Given the description of an element on the screen output the (x, y) to click on. 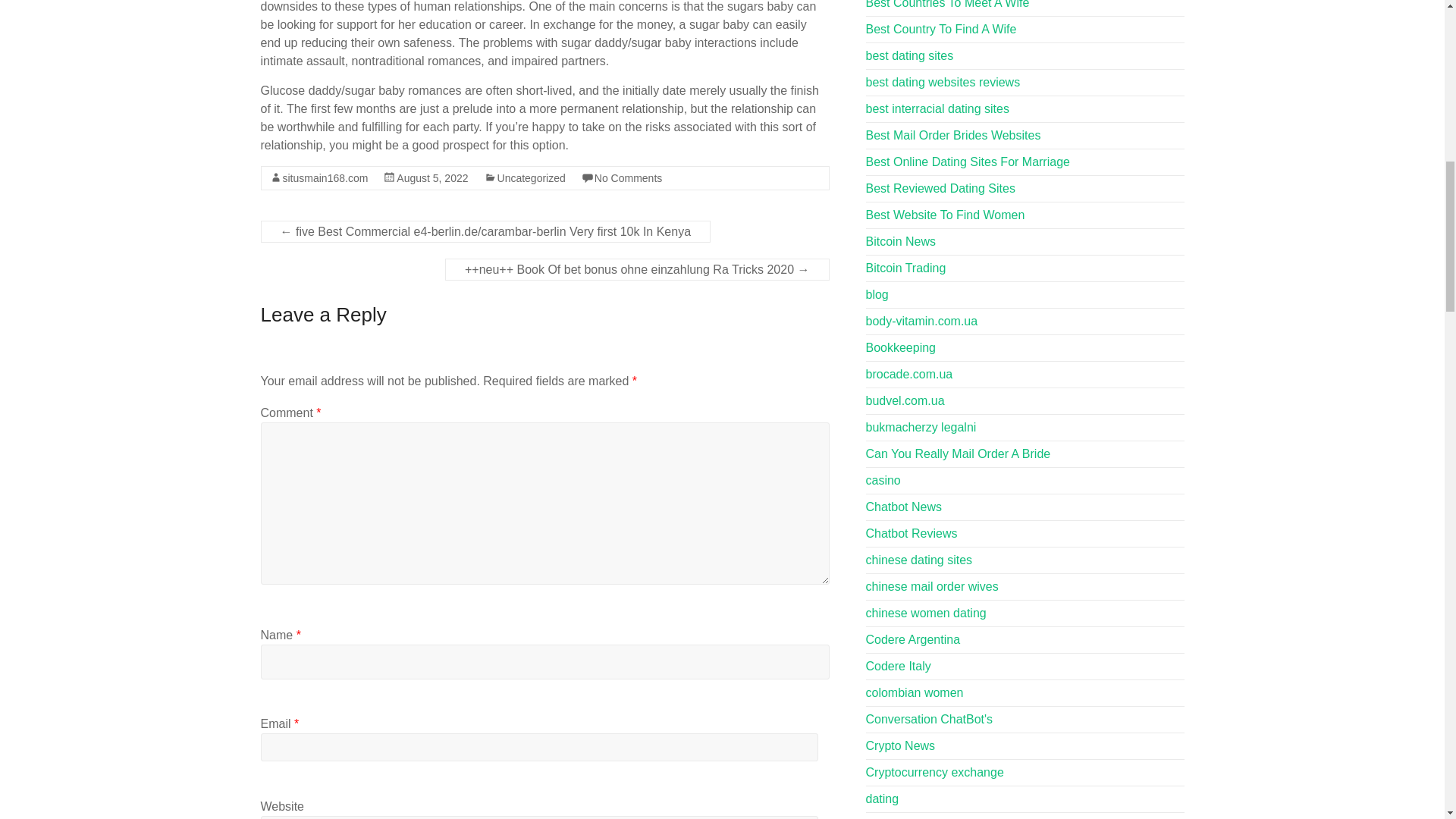
Best Reviewed Dating Sites (940, 187)
Best Mail Order Brides Websites (953, 134)
August 5, 2022 (431, 177)
best dating sites (909, 55)
Best Country To Find A Wife (941, 29)
No Comments (628, 177)
best dating websites reviews (943, 82)
situsmain168.com (325, 177)
Best Countries To Meet A Wife (947, 4)
Best Website To Find Women (945, 214)
Uncategorized (531, 177)
best interracial dating sites (937, 108)
12:00 am (431, 177)
Best Online Dating Sites For Marriage (968, 161)
